Given the description of an element on the screen output the (x, y) to click on. 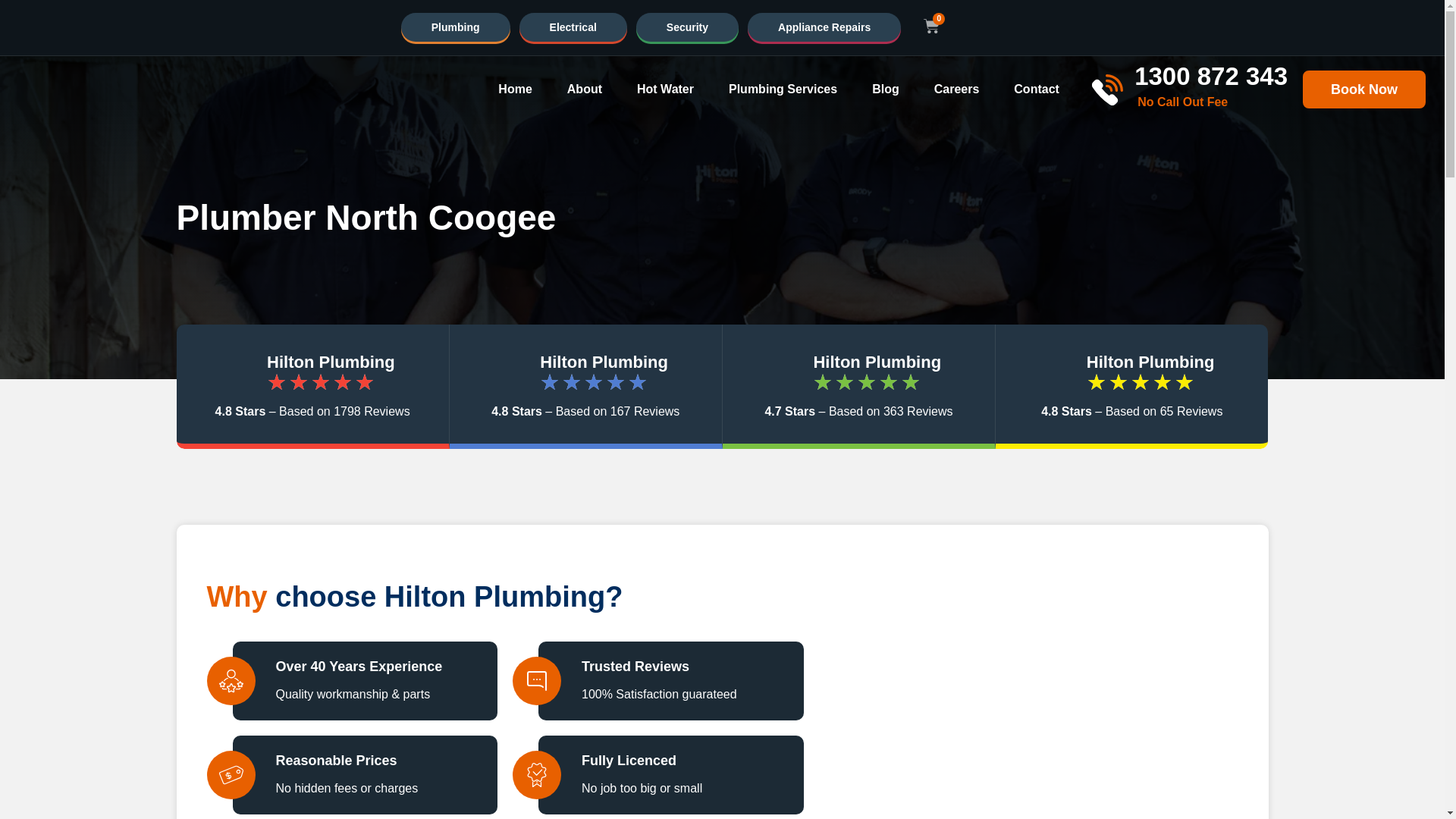
Security (687, 27)
0 (931, 27)
Hot Water (665, 89)
Home (514, 89)
Electrical (573, 27)
Plumbing Services (782, 89)
Appliance Repairs (824, 27)
Plumbing (456, 27)
About (585, 89)
